Given the description of an element on the screen output the (x, y) to click on. 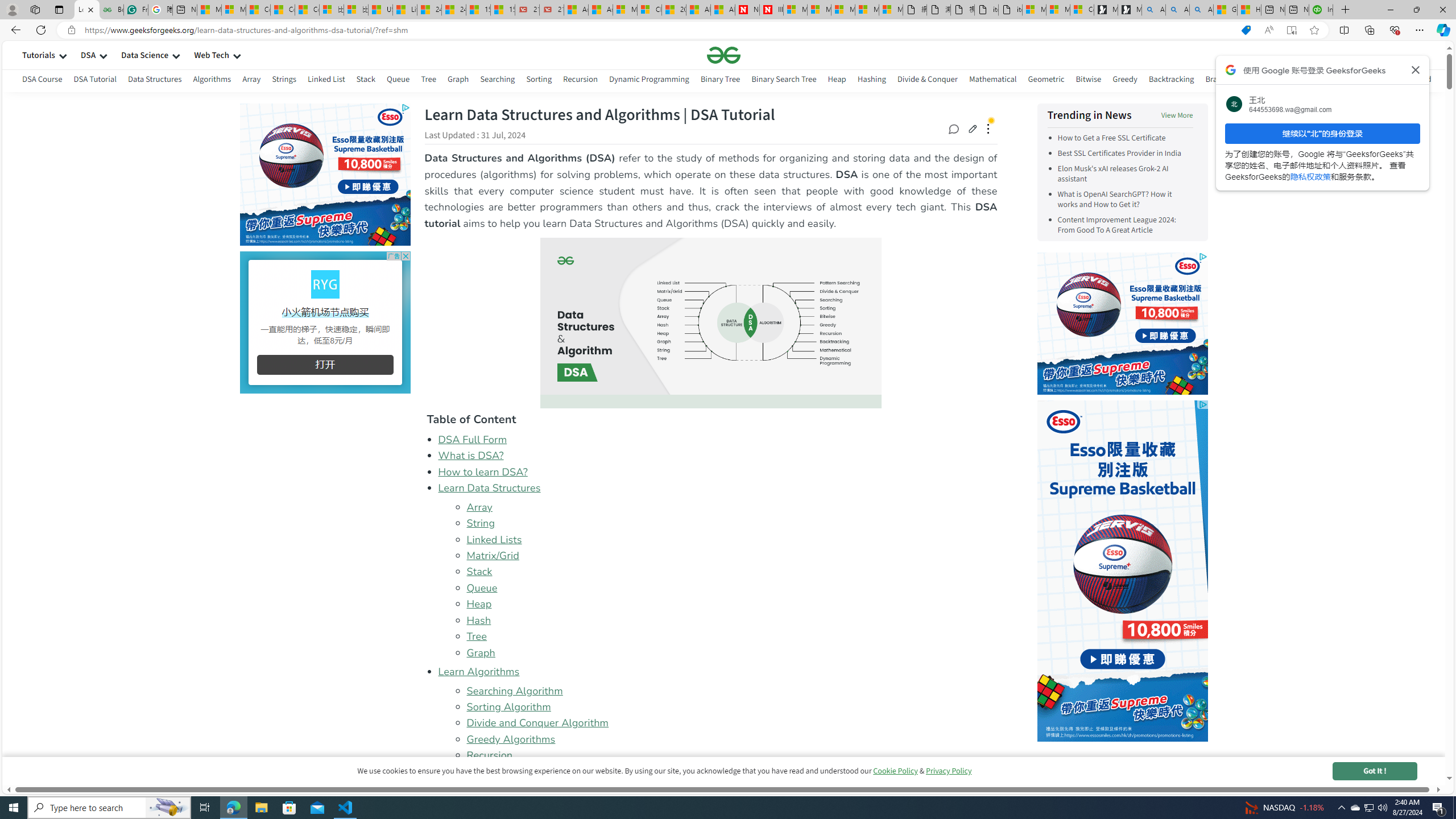
Array (731, 506)
Learn Data Structures (717, 487)
How to Get a Free SSL Certificate (1111, 138)
Alabama high school quarterback dies - Search Videos (1201, 9)
Backtracking (1170, 80)
Backtracking Algorithm (520, 771)
Pattern Searching (1344, 80)
Newsweek - News, Analysis, Politics, Business, Technology (747, 9)
Free AI Writing Assistance for Students | Grammarly (135, 9)
Learn Data Structures (489, 488)
This site has coupons! Shopping in Microsoft Edge (1245, 29)
